Given the description of an element on the screen output the (x, y) to click on. 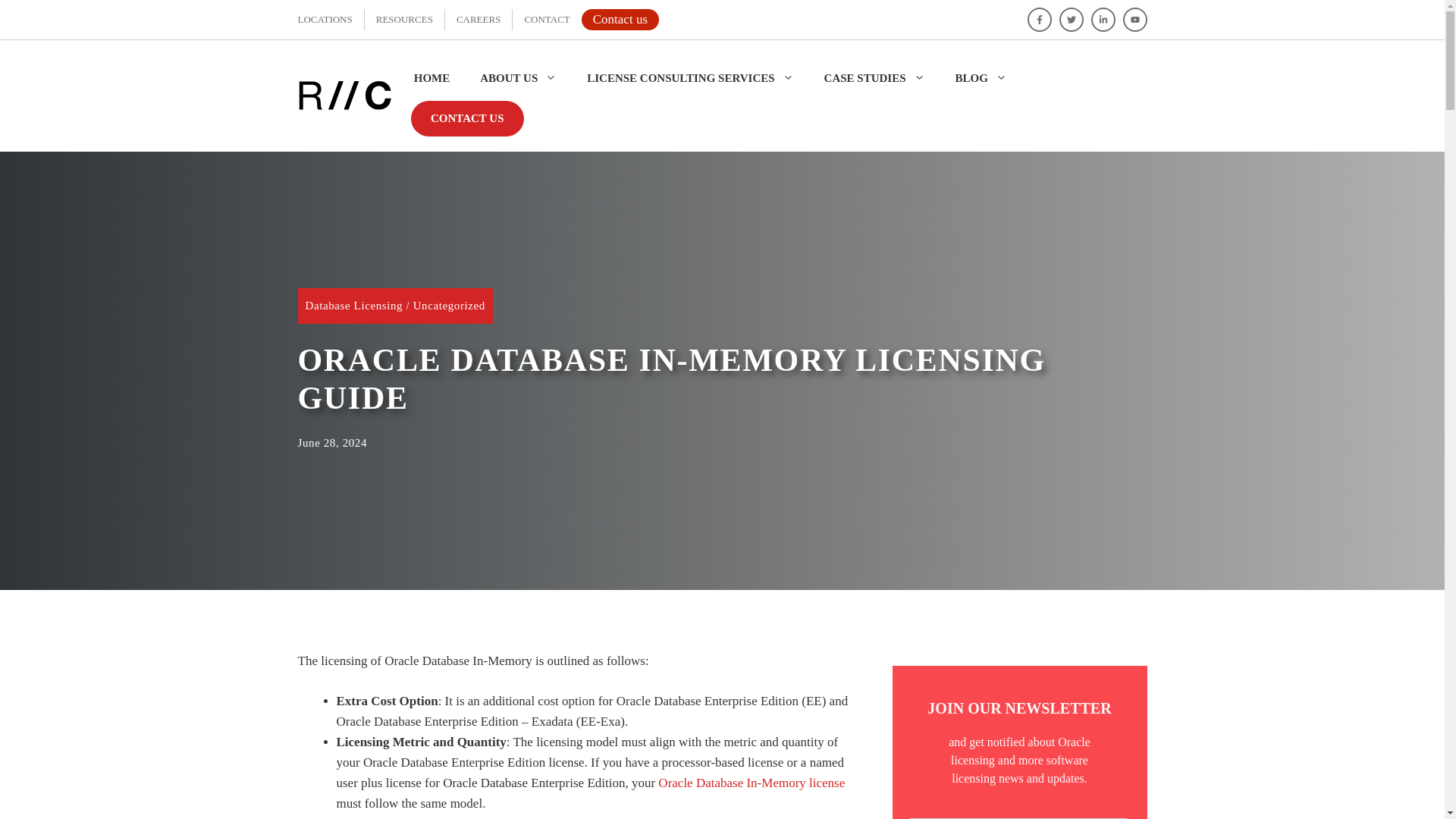
RESOURCES (403, 19)
CONTACT (546, 19)
ABOUT US (518, 77)
Contact (546, 19)
CAREERS (478, 19)
LICENSE CONSULTING SERVICES (690, 77)
Location (324, 19)
LOCATIONS (324, 19)
Careers (478, 19)
Resources (403, 19)
 HOME (430, 77)
